Given the description of an element on the screen output the (x, y) to click on. 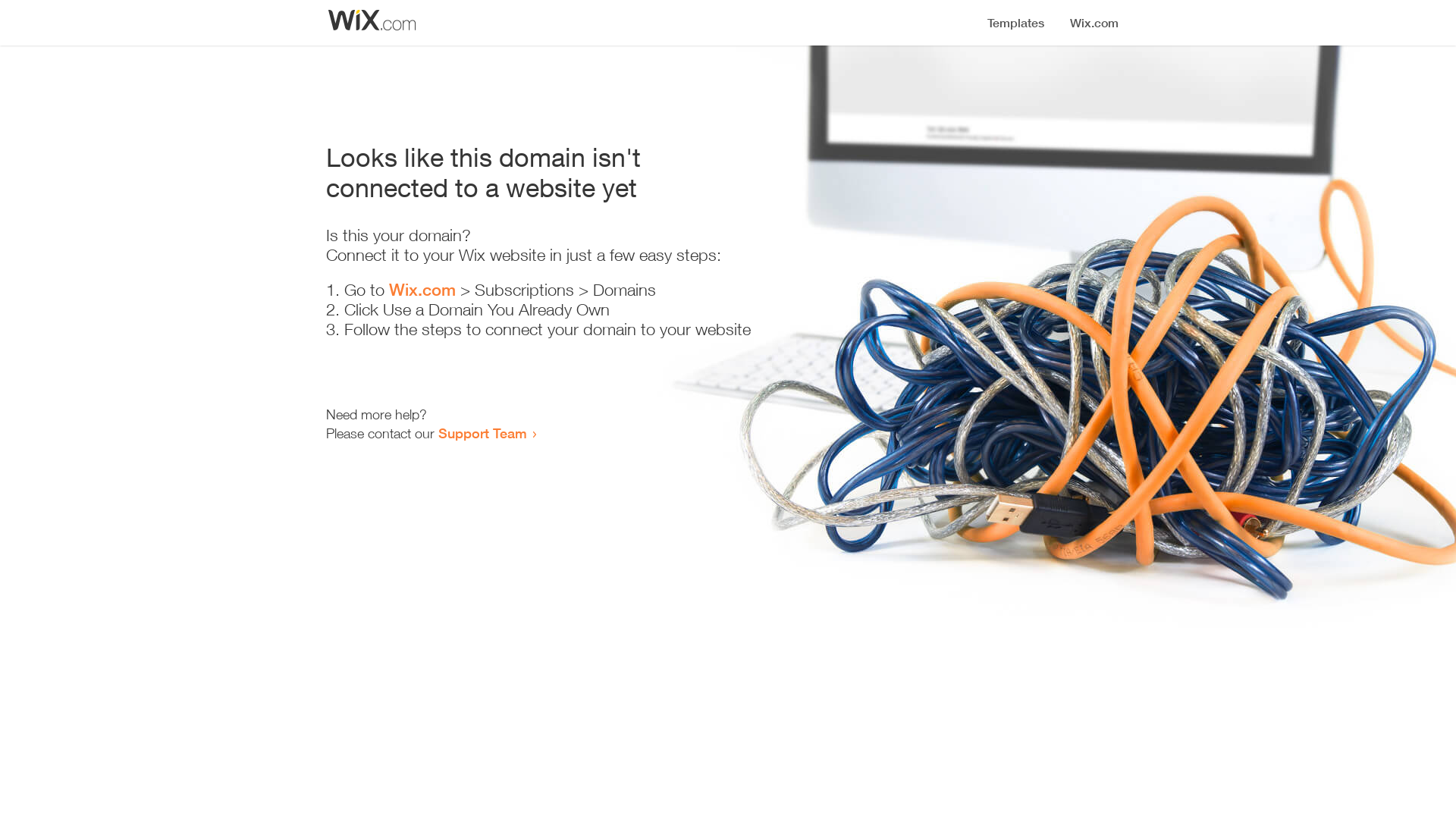
Support Team Element type: text (482, 432)
Wix.com Element type: text (422, 289)
